Given the description of an element on the screen output the (x, y) to click on. 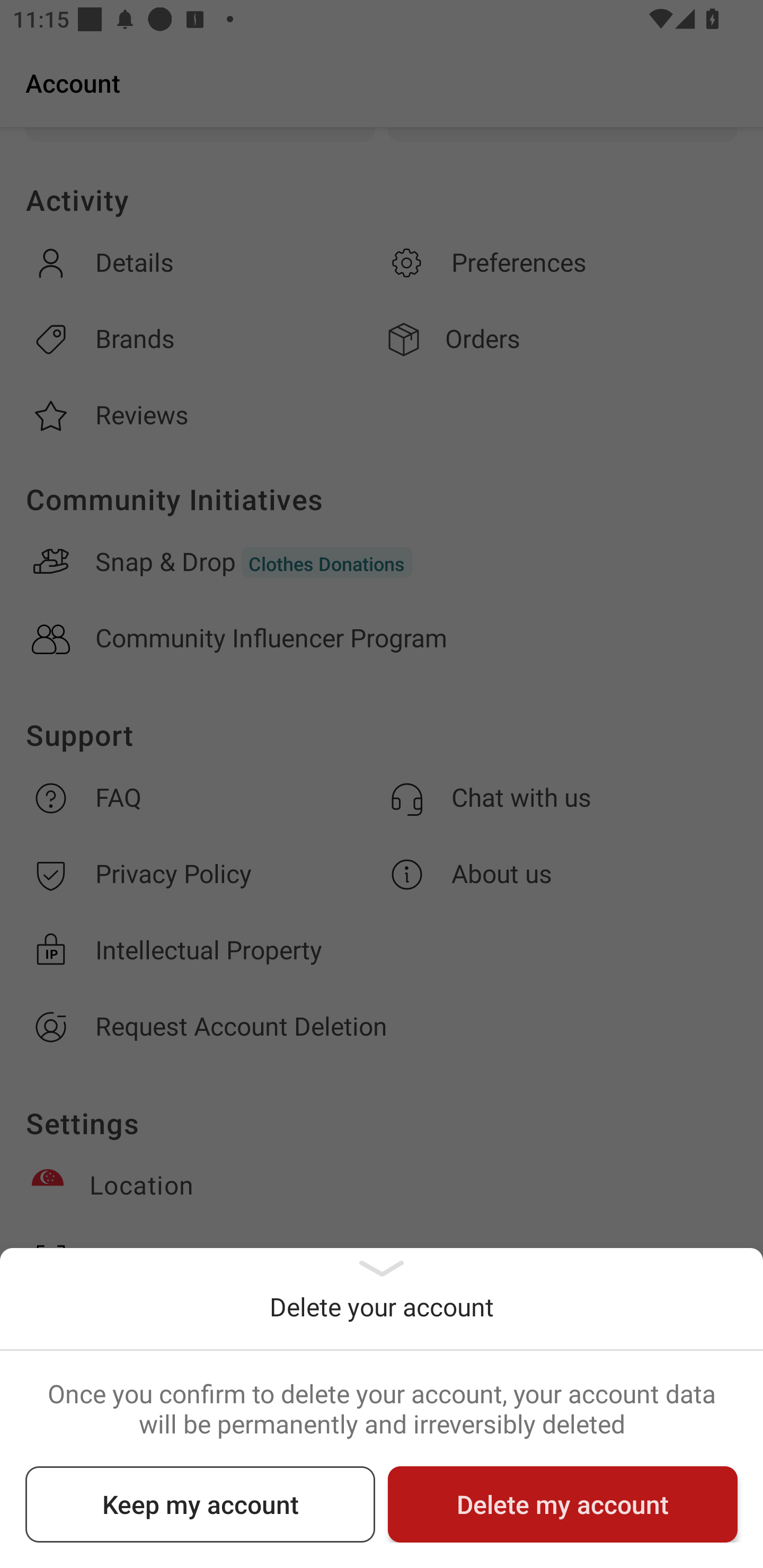
Keep my account (200, 1504)
Delete my account (562, 1504)
